Given the description of an element on the screen output the (x, y) to click on. 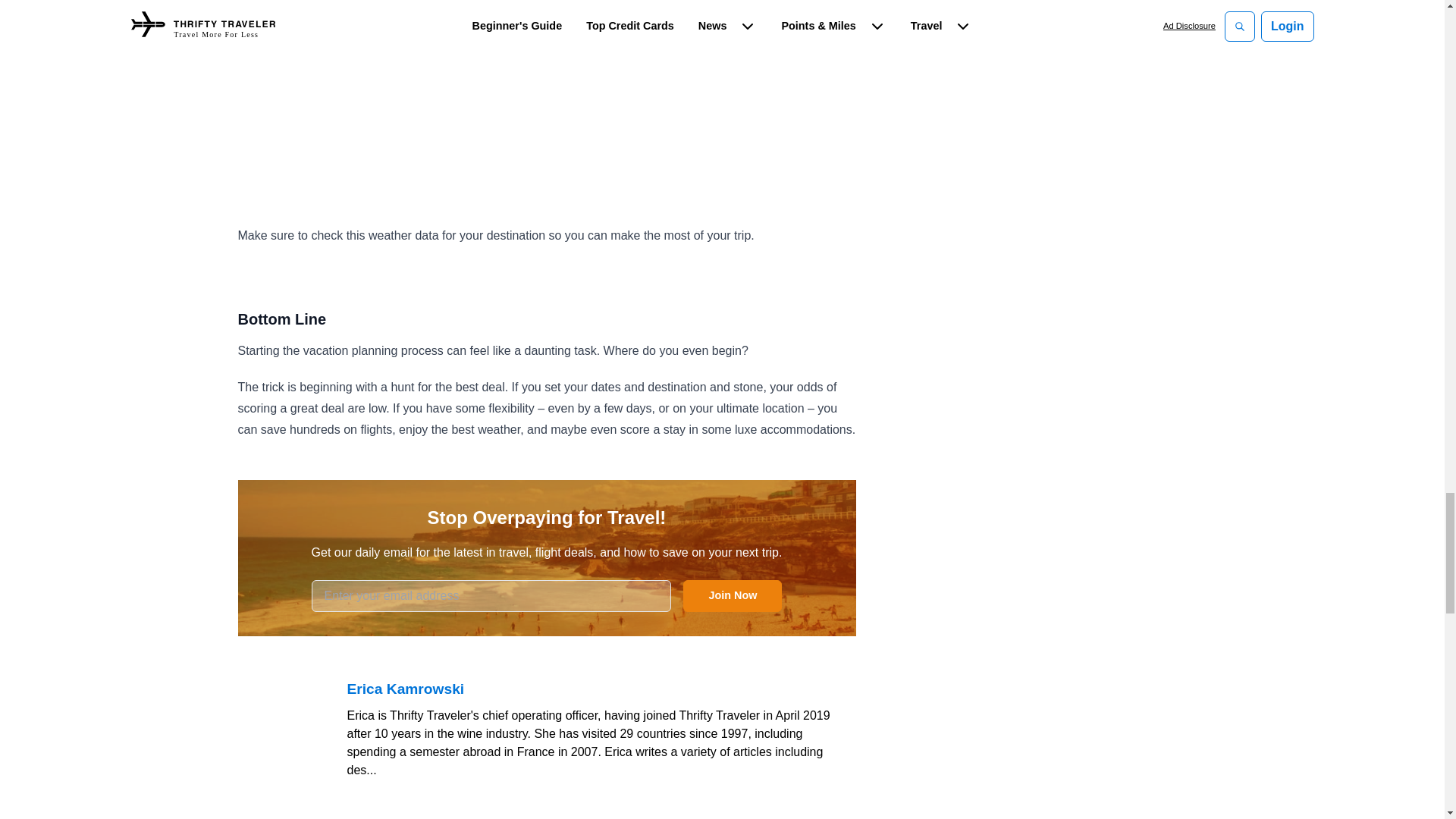
5 Top Tools to Plan and Book the Best Vacation 3 (547, 84)
